Given the description of an element on the screen output the (x, y) to click on. 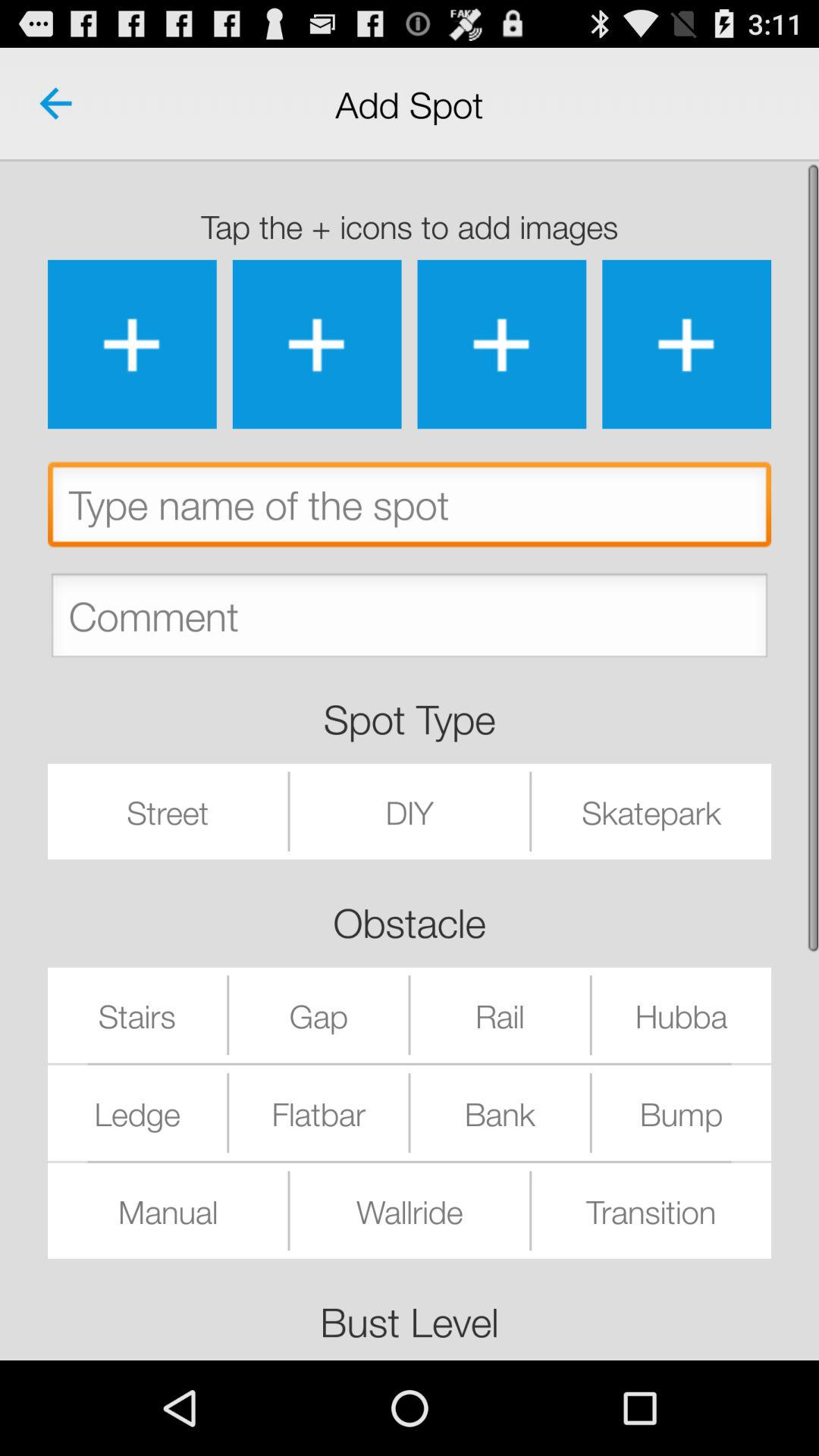
add images (131, 343)
